Given the description of an element on the screen output the (x, y) to click on. 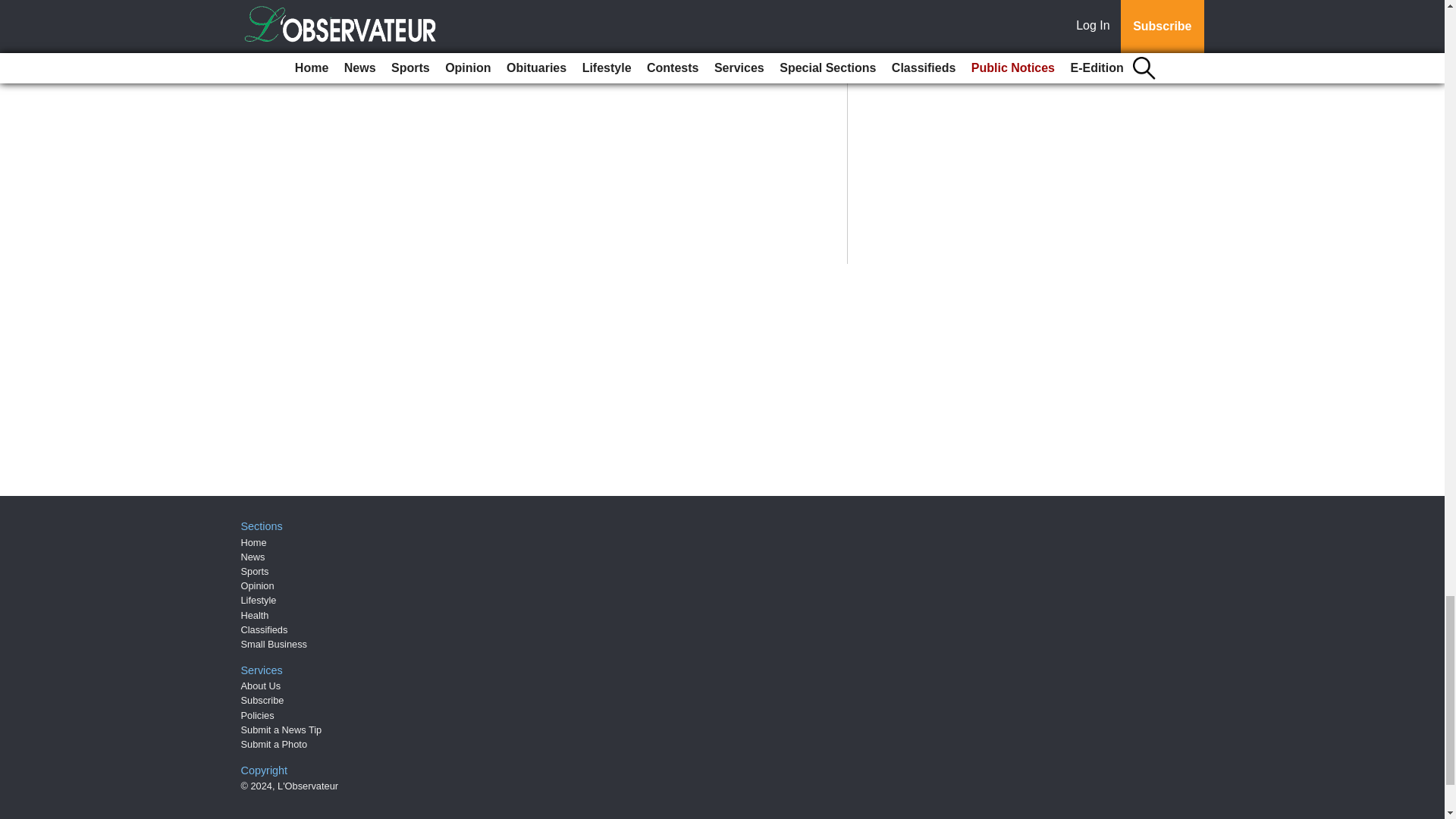
News (252, 556)
Home (253, 542)
